Given the description of an element on the screen output the (x, y) to click on. 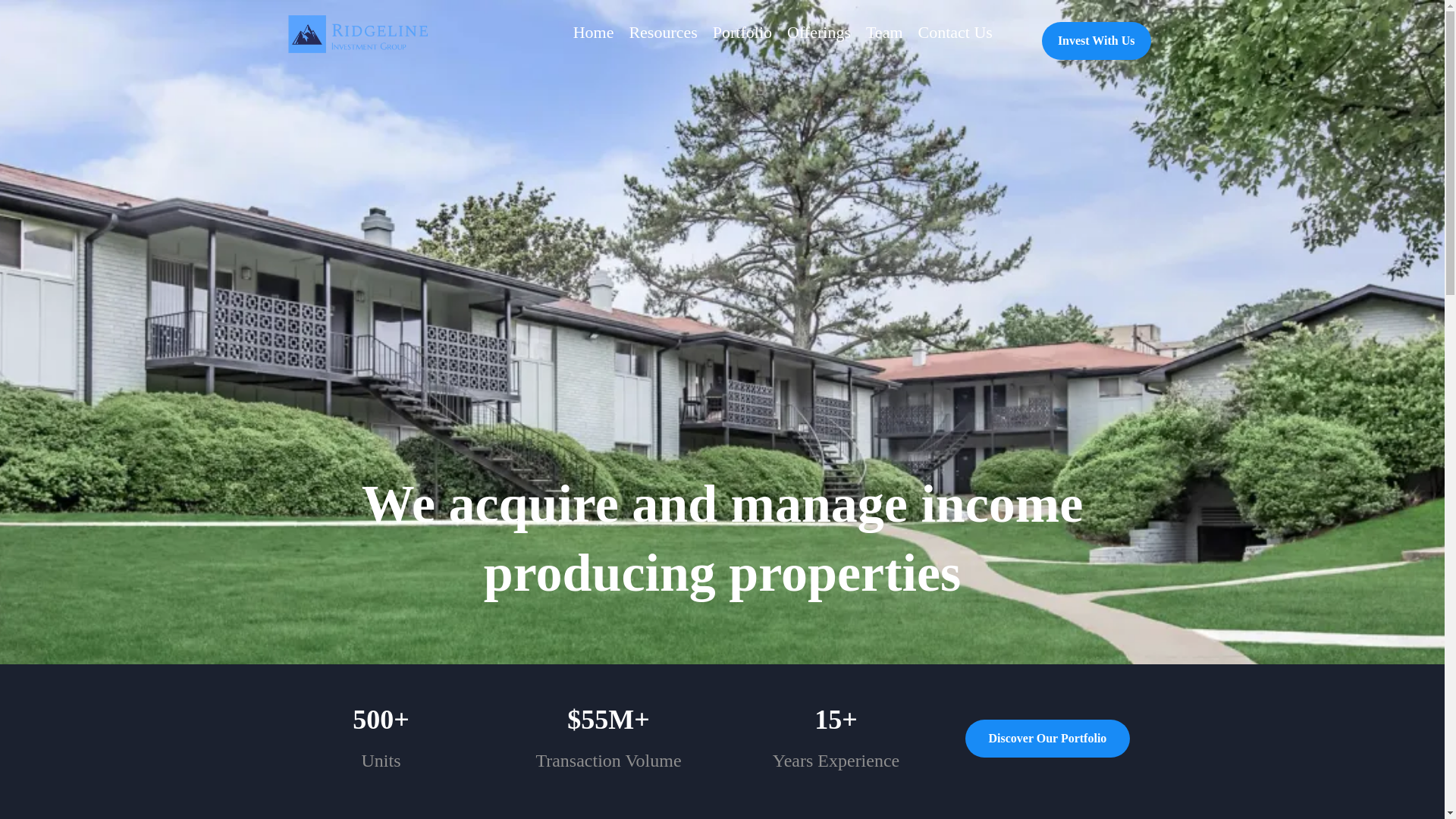
Contact Us (955, 32)
Discover Our Portfolio (1046, 738)
Offerings (818, 32)
Team (885, 32)
Invest With Us (1096, 40)
Portfolio (741, 32)
Home (593, 32)
Resources (662, 32)
